Given the description of an element on the screen output the (x, y) to click on. 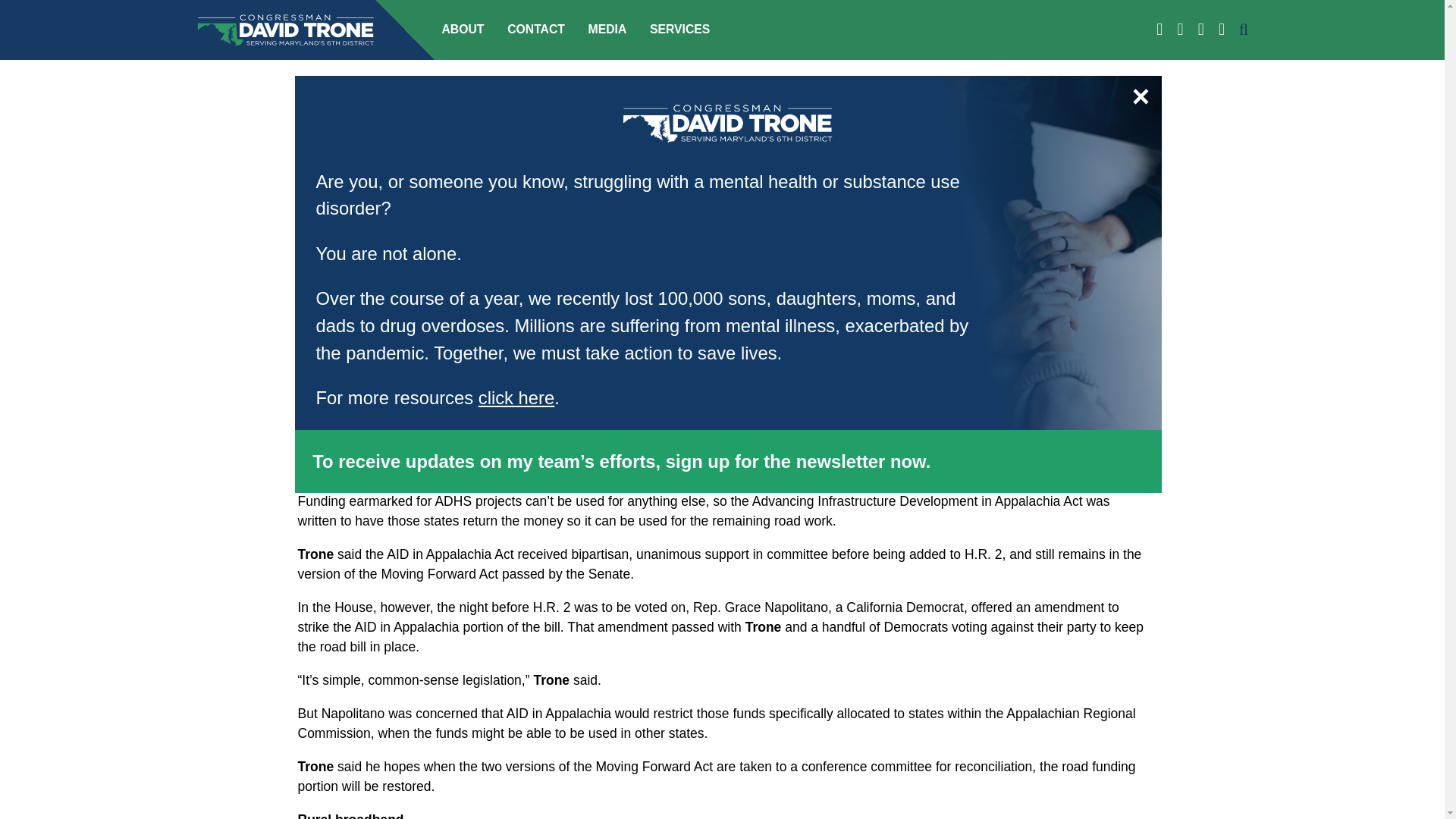
MEDIA (607, 29)
CONTACT (535, 29)
SERVICES (679, 29)
The Garrett County Republican (432, 182)
ABOUT (462, 29)
